Given the description of an element on the screen output the (x, y) to click on. 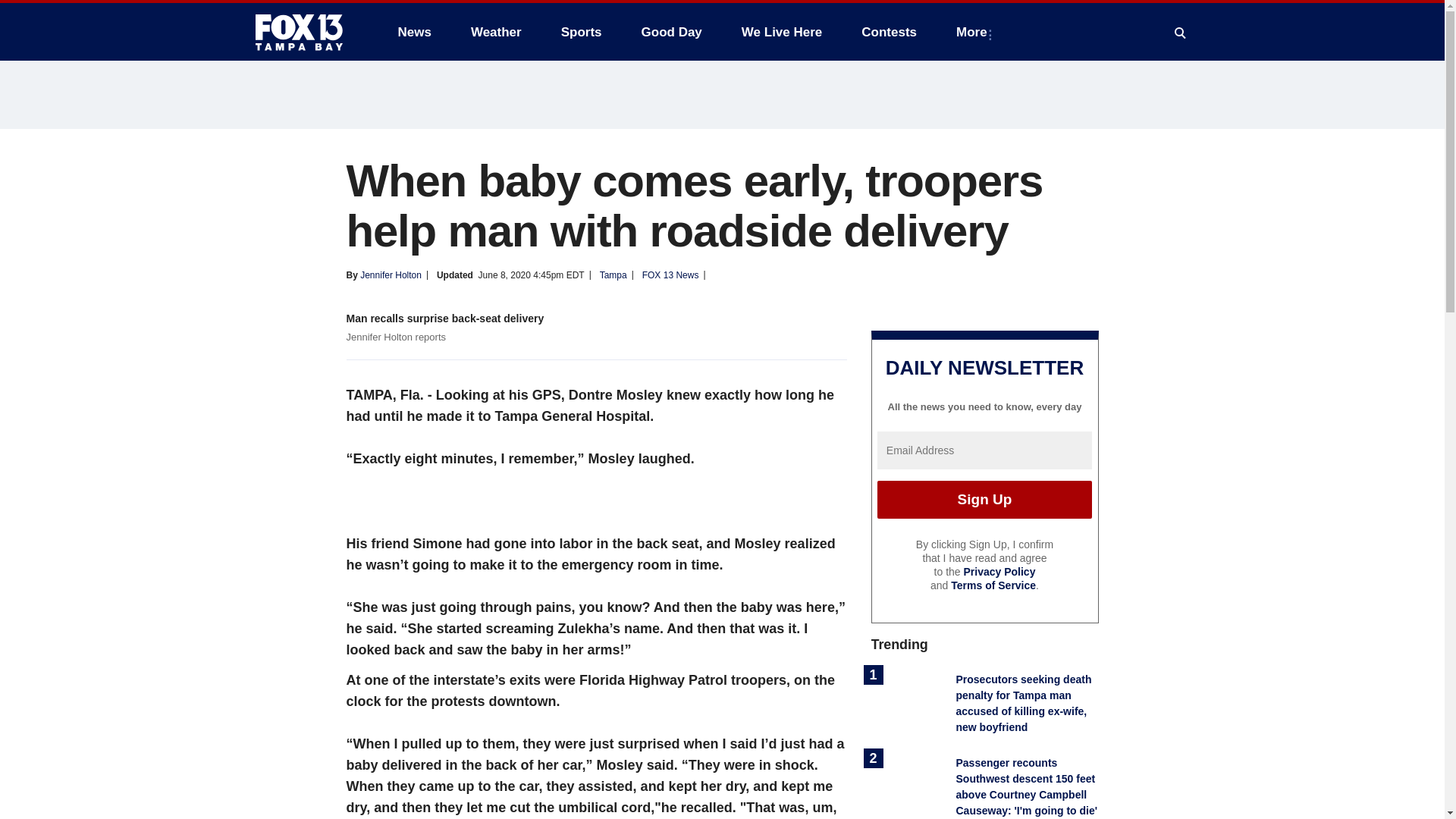
Contests (888, 32)
Weather (496, 32)
Sign Up (984, 499)
We Live Here (781, 32)
News (413, 32)
More (974, 32)
Good Day (671, 32)
Sports (581, 32)
